Given the description of an element on the screen output the (x, y) to click on. 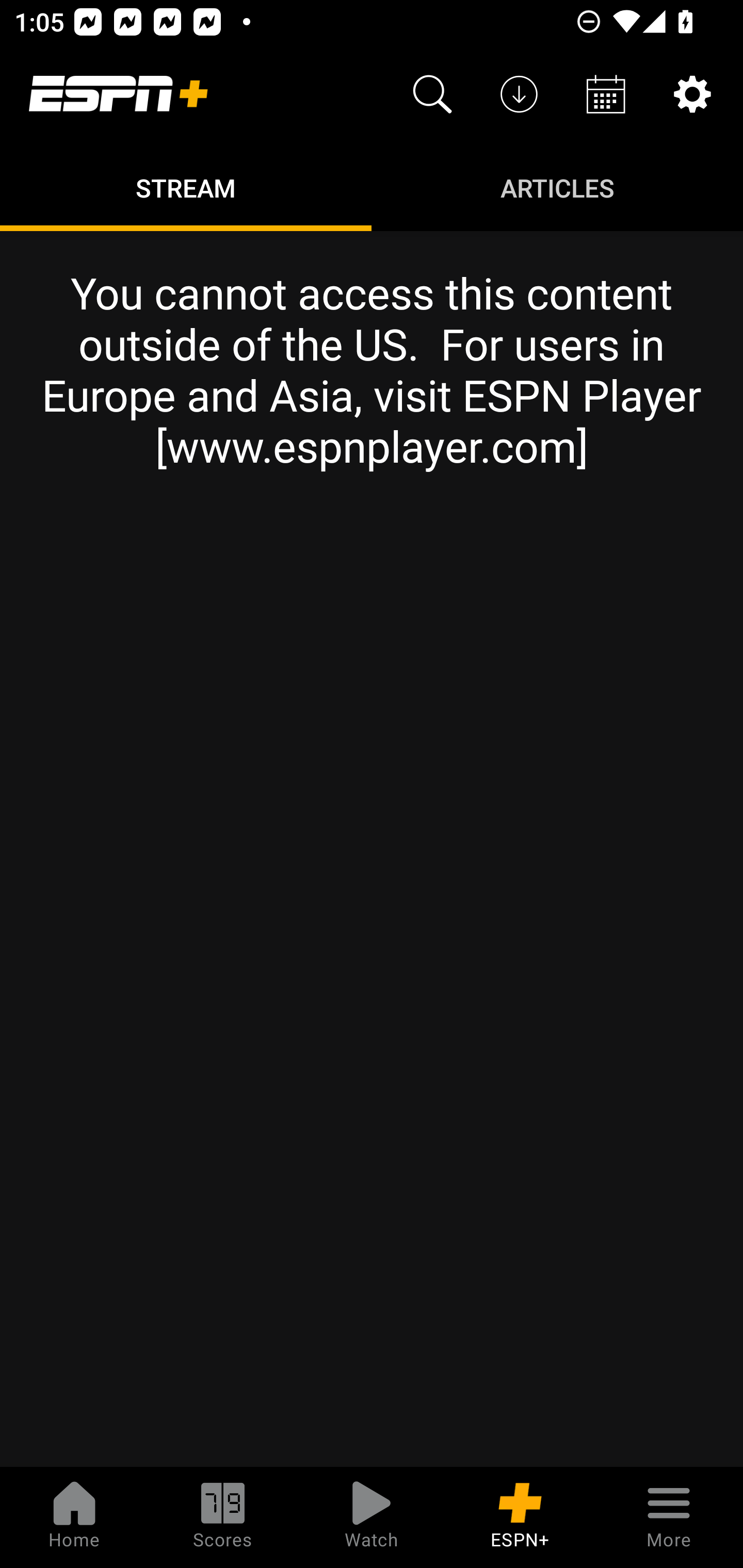
Search (432, 93)
Downloads (518, 93)
Schedule (605, 93)
Settings (692, 93)
Articles ARTICLES (557, 187)
Home (74, 1517)
Scores (222, 1517)
Watch (371, 1517)
More (668, 1517)
